Given the description of an element on the screen output the (x, y) to click on. 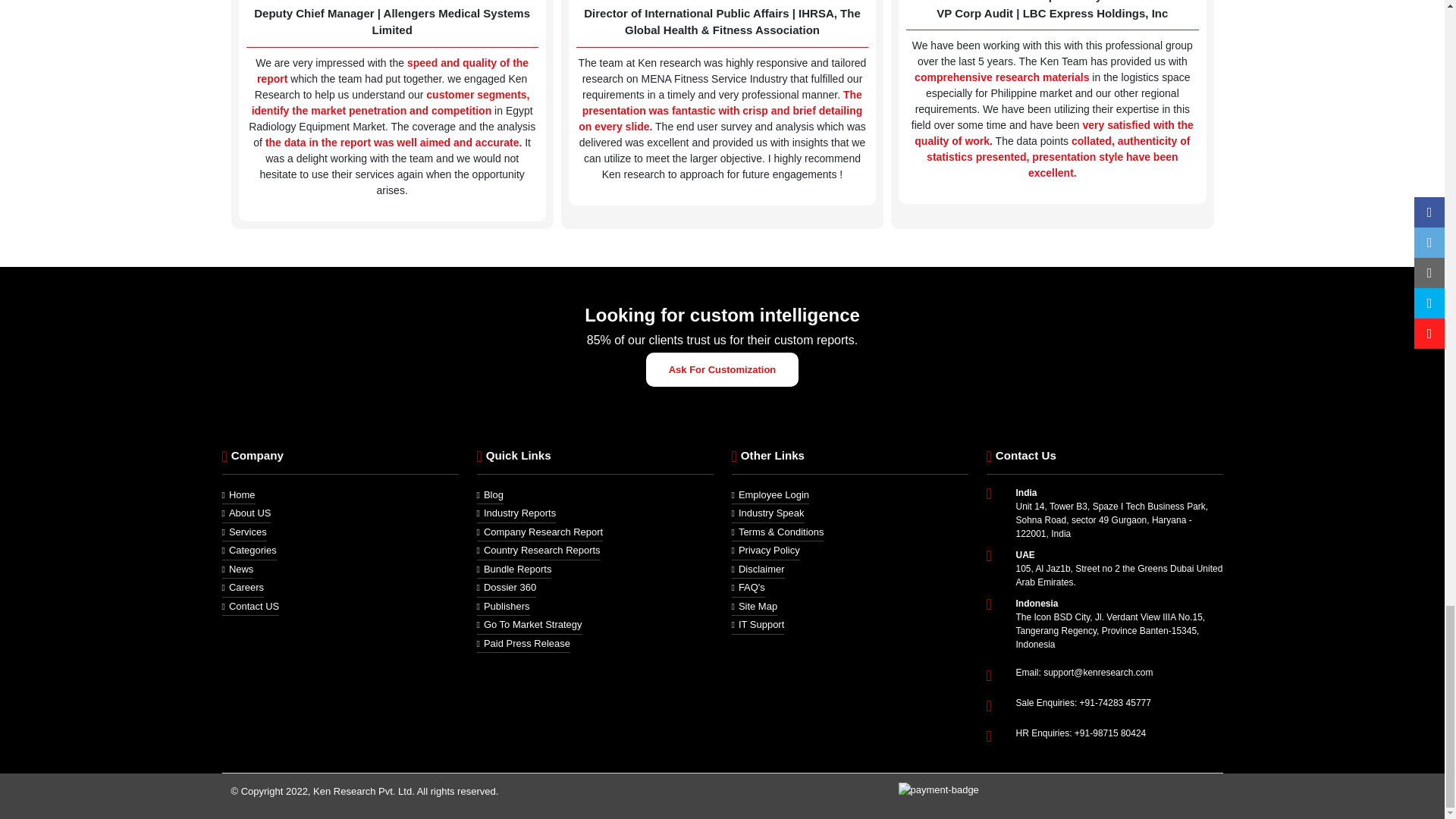
News (237, 569)
About US (245, 513)
Careers (242, 587)
Contact us (250, 606)
Careers  (242, 587)
Contact US (250, 606)
Home (237, 495)
Home (237, 495)
Categories (248, 550)
Services (243, 532)
Ask For Customization (722, 369)
About us (245, 513)
Services (243, 532)
categories (248, 550)
Blog (489, 495)
